Given the description of an element on the screen output the (x, y) to click on. 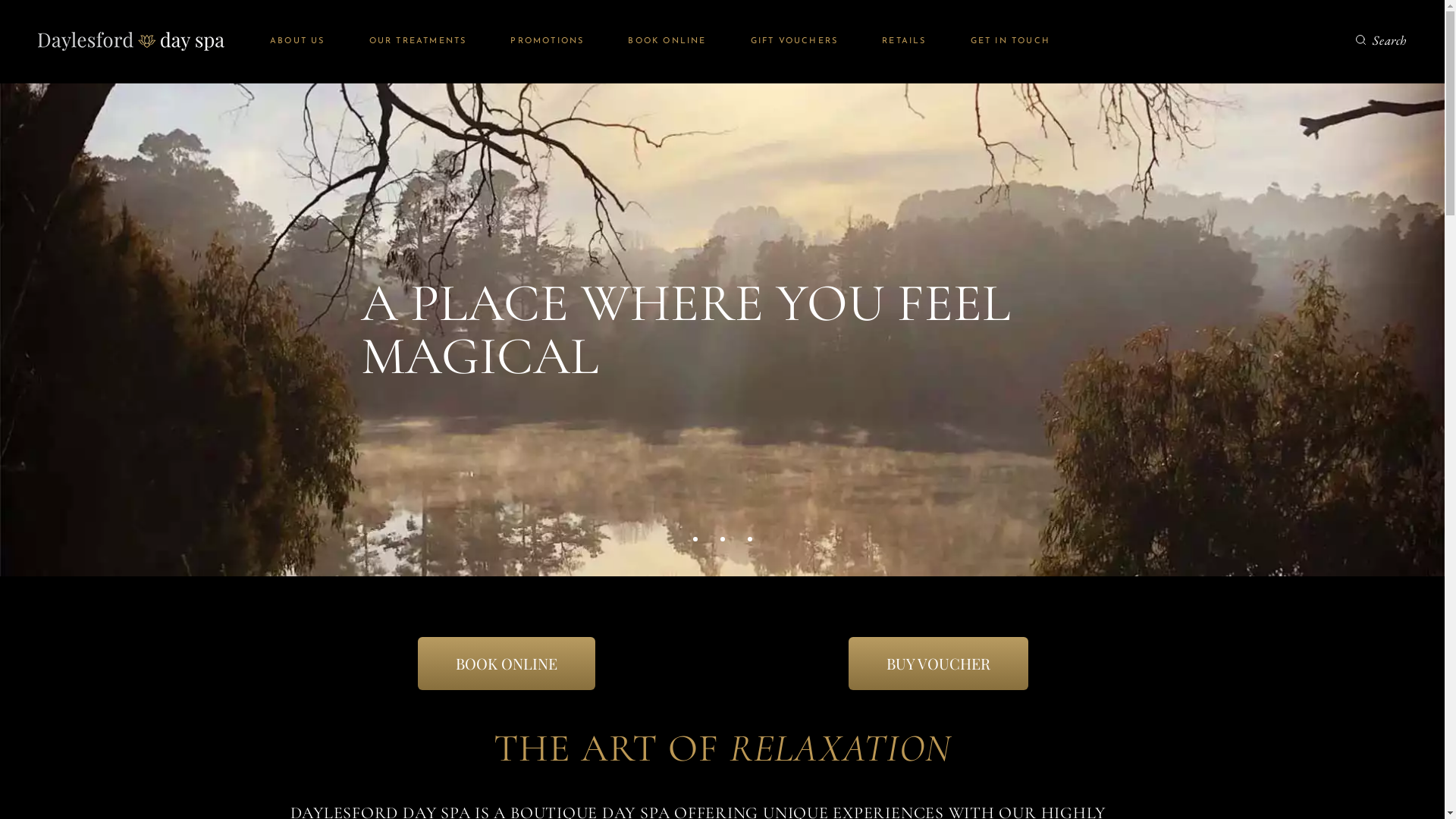
GIFT VOUCHERS Element type: text (794, 41)
BOOK ONLINE Element type: text (505, 663)
OUR TREATMENTS Element type: text (418, 41)
BOOK ONLINE Element type: text (666, 41)
RETAILS Element type: text (903, 41)
ABOUT US Element type: text (297, 41)
BUY VOUCHER Element type: text (938, 663)
Search Element type: text (1380, 39)
GET IN TOUCH Element type: text (1010, 41)
PROMOTIONS Element type: text (546, 41)
